Given the description of an element on the screen output the (x, y) to click on. 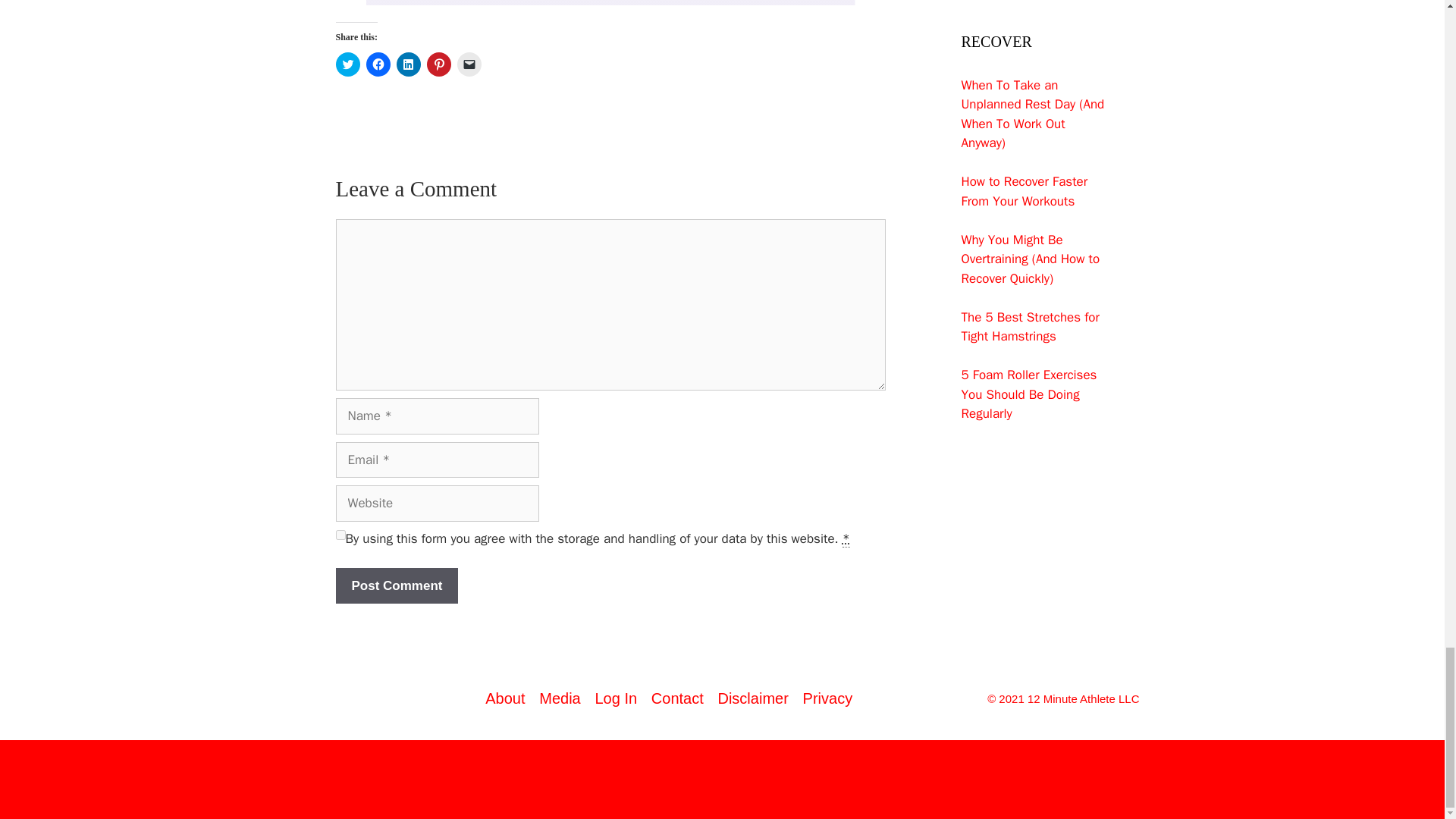
Click to share on Twitter (346, 64)
Click to share on LinkedIn (408, 64)
Post Comment (396, 586)
Click to share on Pinterest (437, 64)
Click to share on Facebook (377, 64)
Click to email a link to a friend (468, 64)
Post Comment (396, 586)
